Given the description of an element on the screen output the (x, y) to click on. 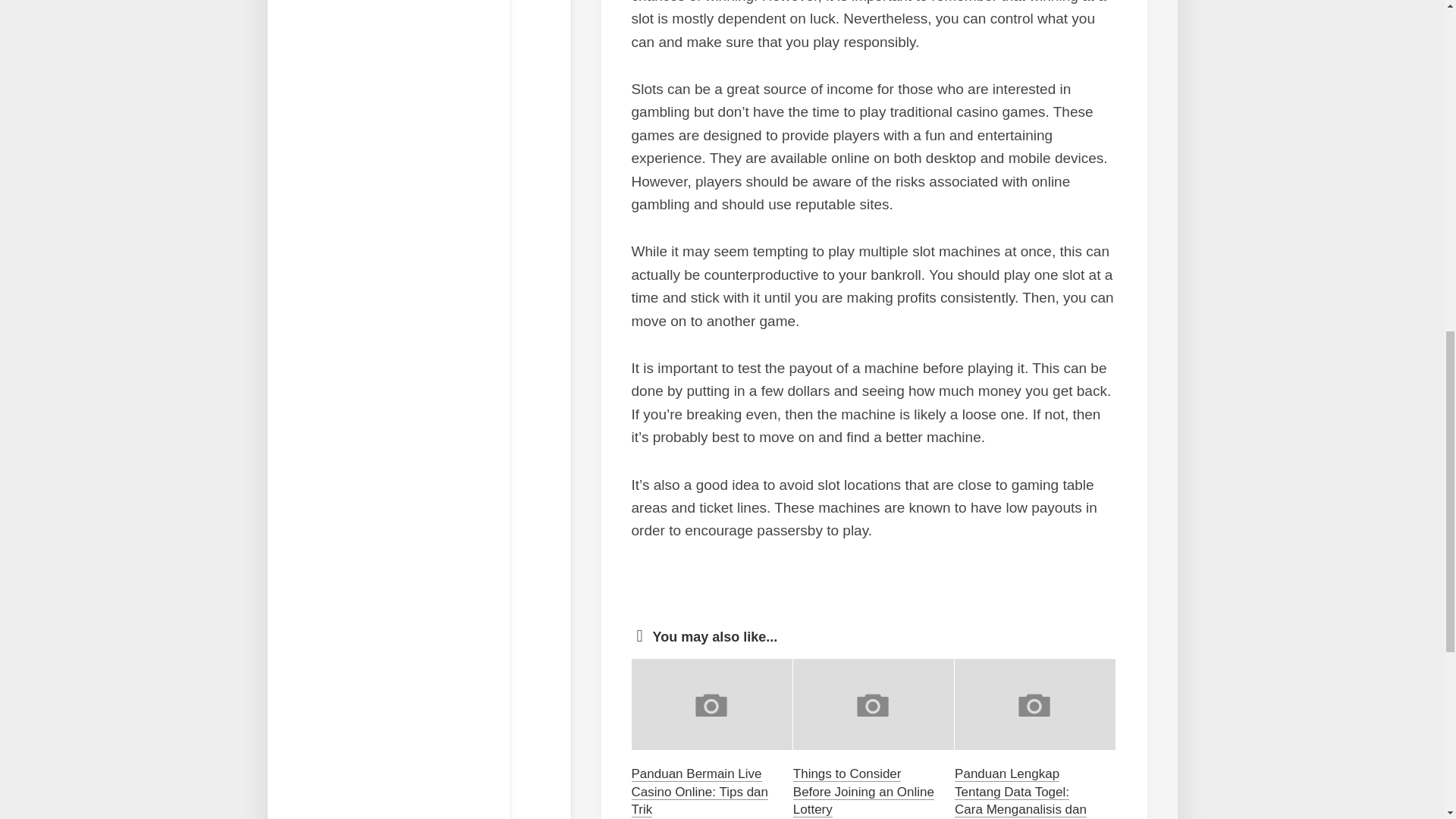
Panduan Bermain Live Casino Online: Tips dan Trik (699, 791)
Things to Consider Before Joining an Online Lottery (863, 791)
